Given the description of an element on the screen output the (x, y) to click on. 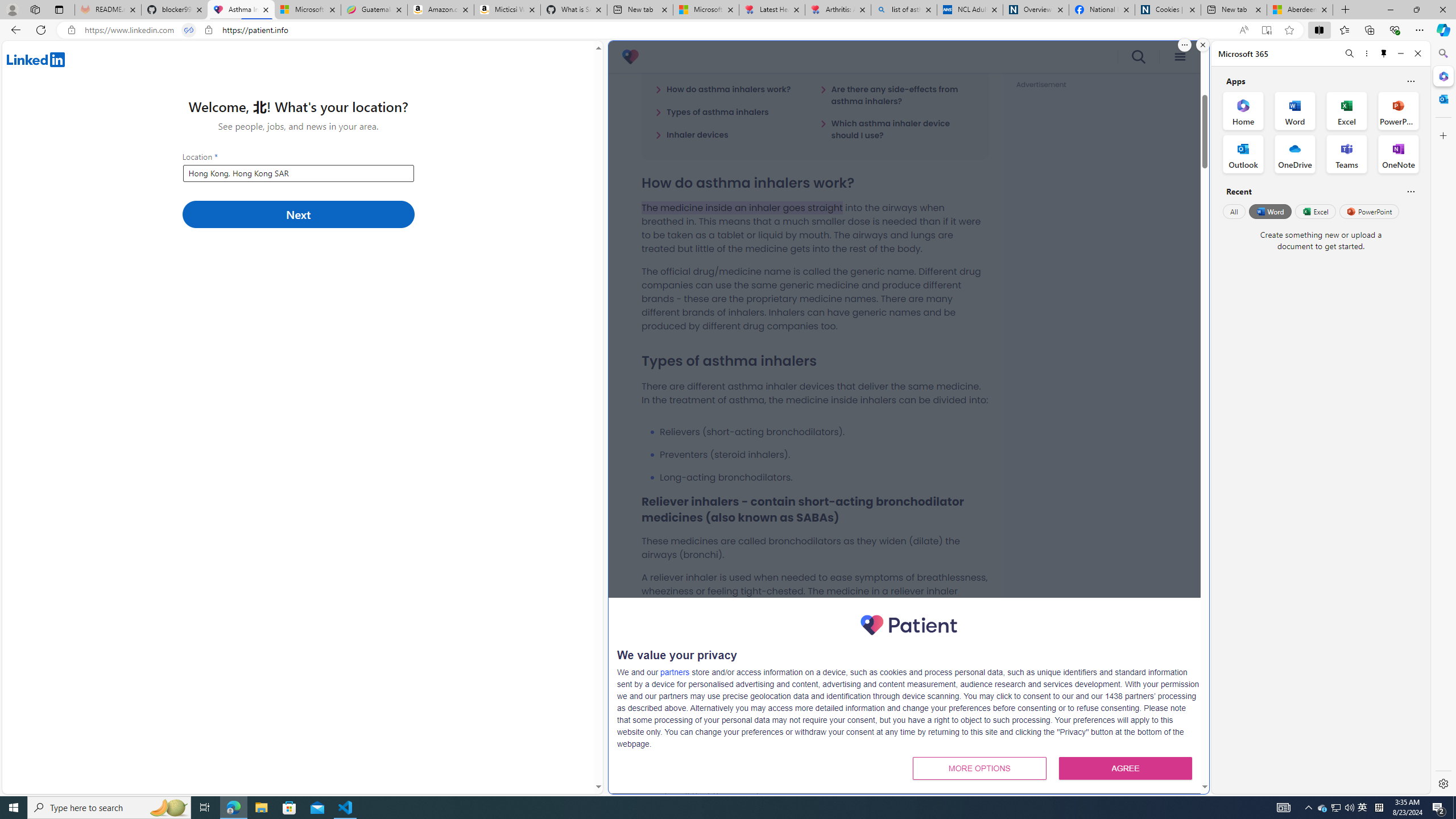
Word (1269, 210)
OneNote Office App (1398, 154)
Word Office App (1295, 110)
More options. (1183, 45)
Relievers (short-acting bronchodilators). (823, 431)
